Given the description of an element on the screen output the (x, y) to click on. 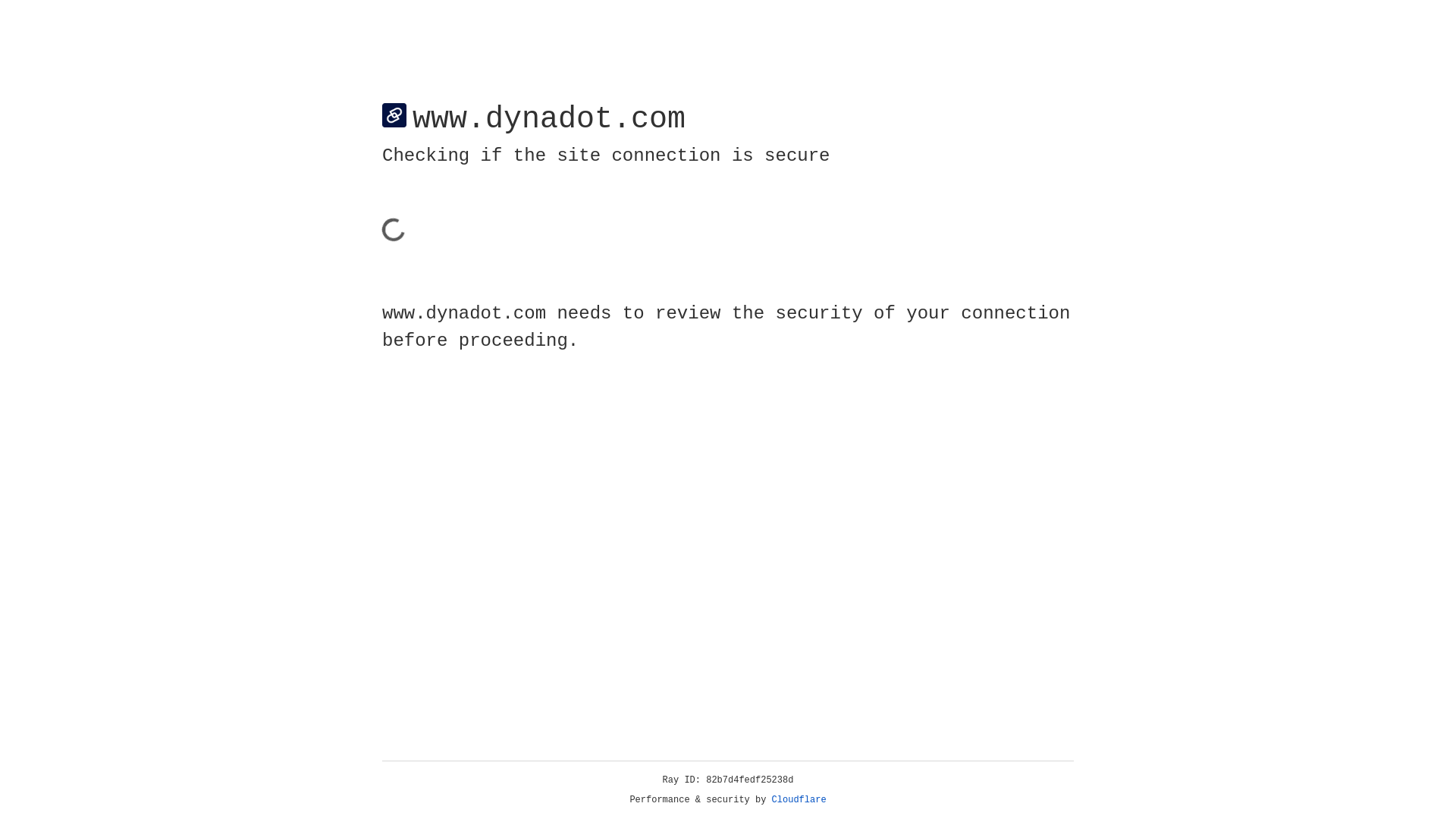
Cloudflare Element type: text (798, 799)
